Given the description of an element on the screen output the (x, y) to click on. 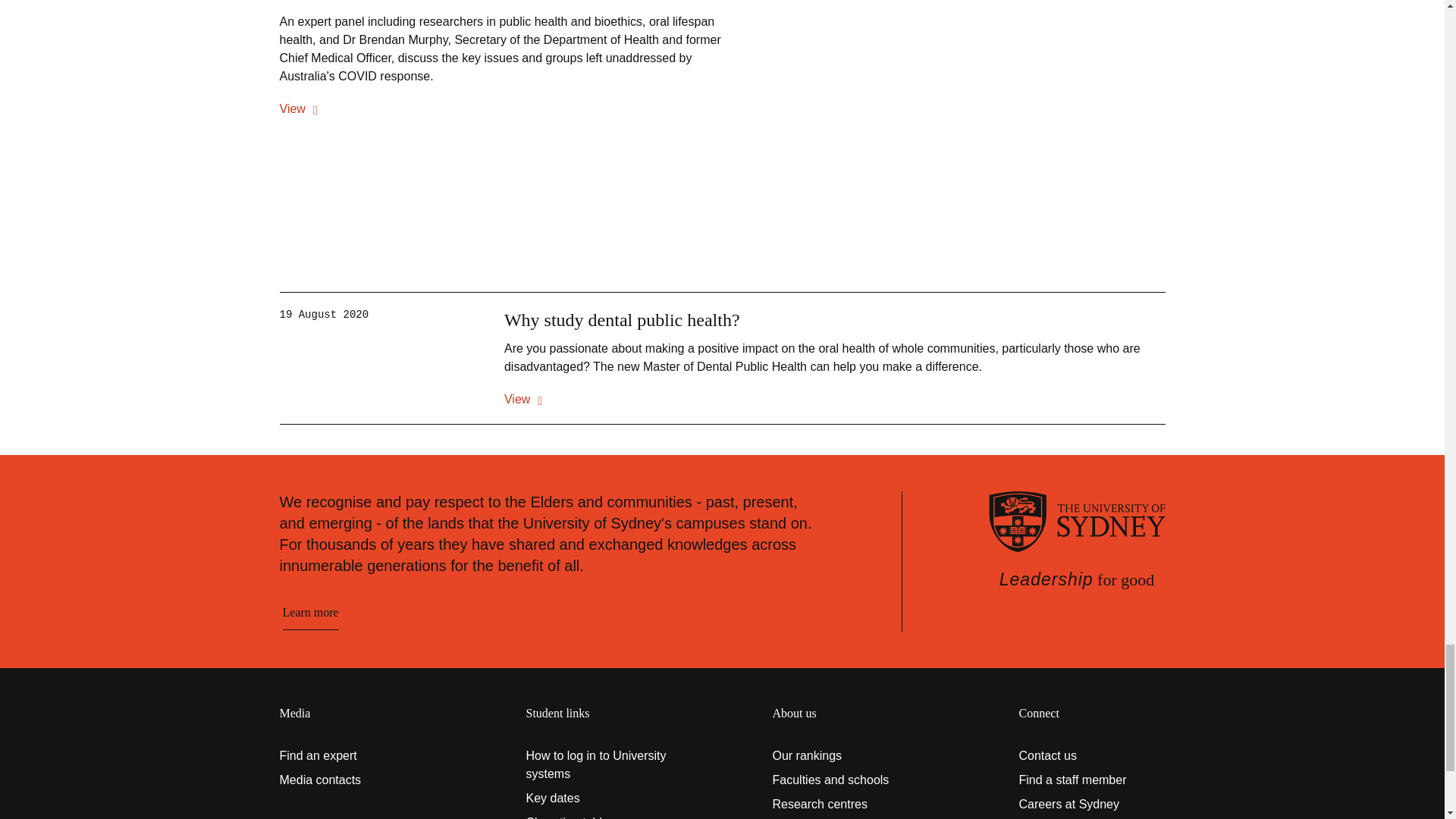
Class timetables (598, 816)
Faculties and schools (844, 780)
Key dates (598, 798)
Find an expert (352, 755)
Our rankings (844, 755)
How to log in to University systems (598, 764)
Learn more (309, 612)
Media contacts (352, 780)
